Given the description of an element on the screen output the (x, y) to click on. 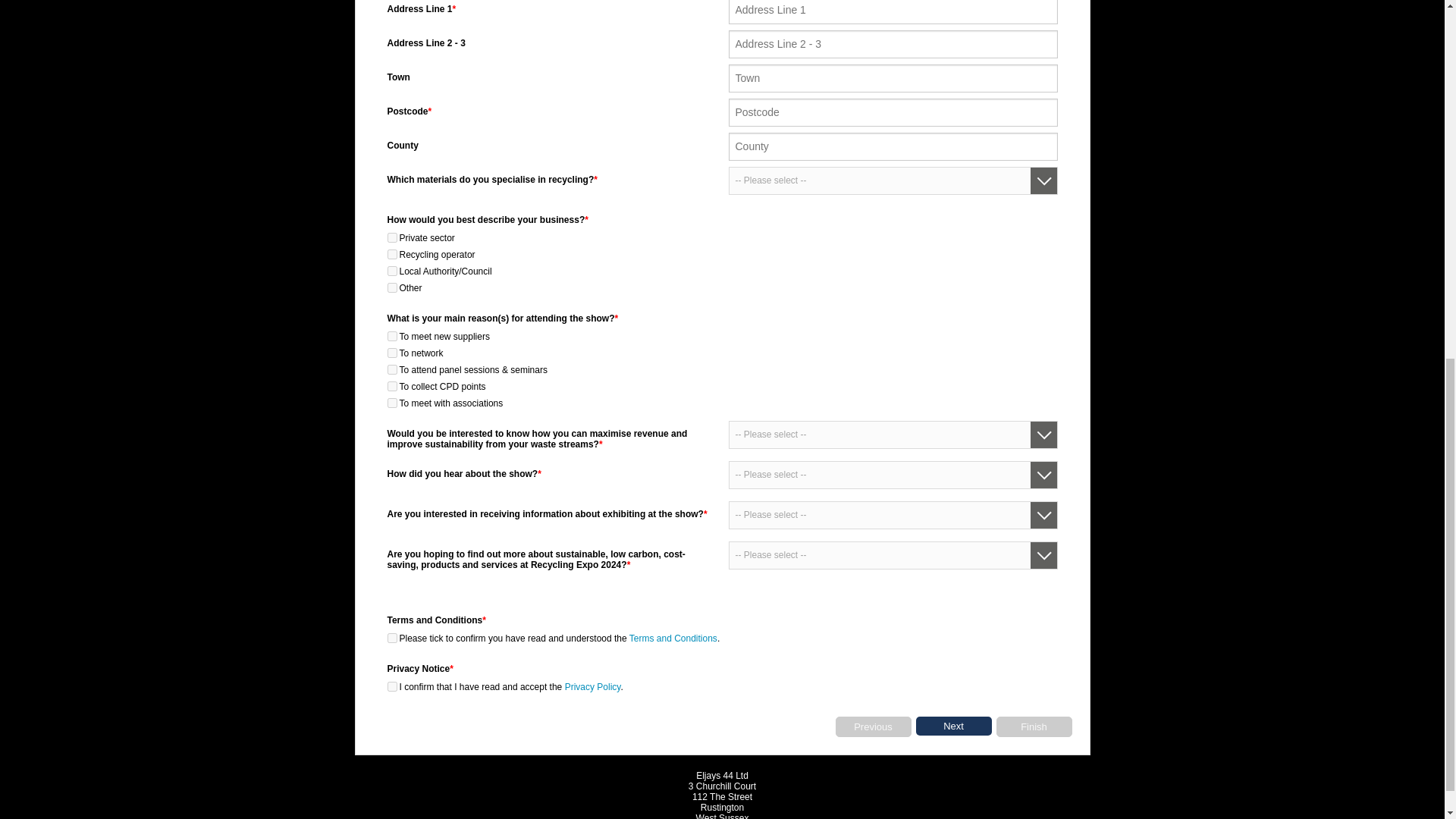
true (391, 237)
true (391, 271)
true (391, 352)
true (391, 254)
Finish (1033, 726)
true (391, 336)
Previous (873, 726)
Next (953, 725)
true (391, 287)
